Given the description of an element on the screen output the (x, y) to click on. 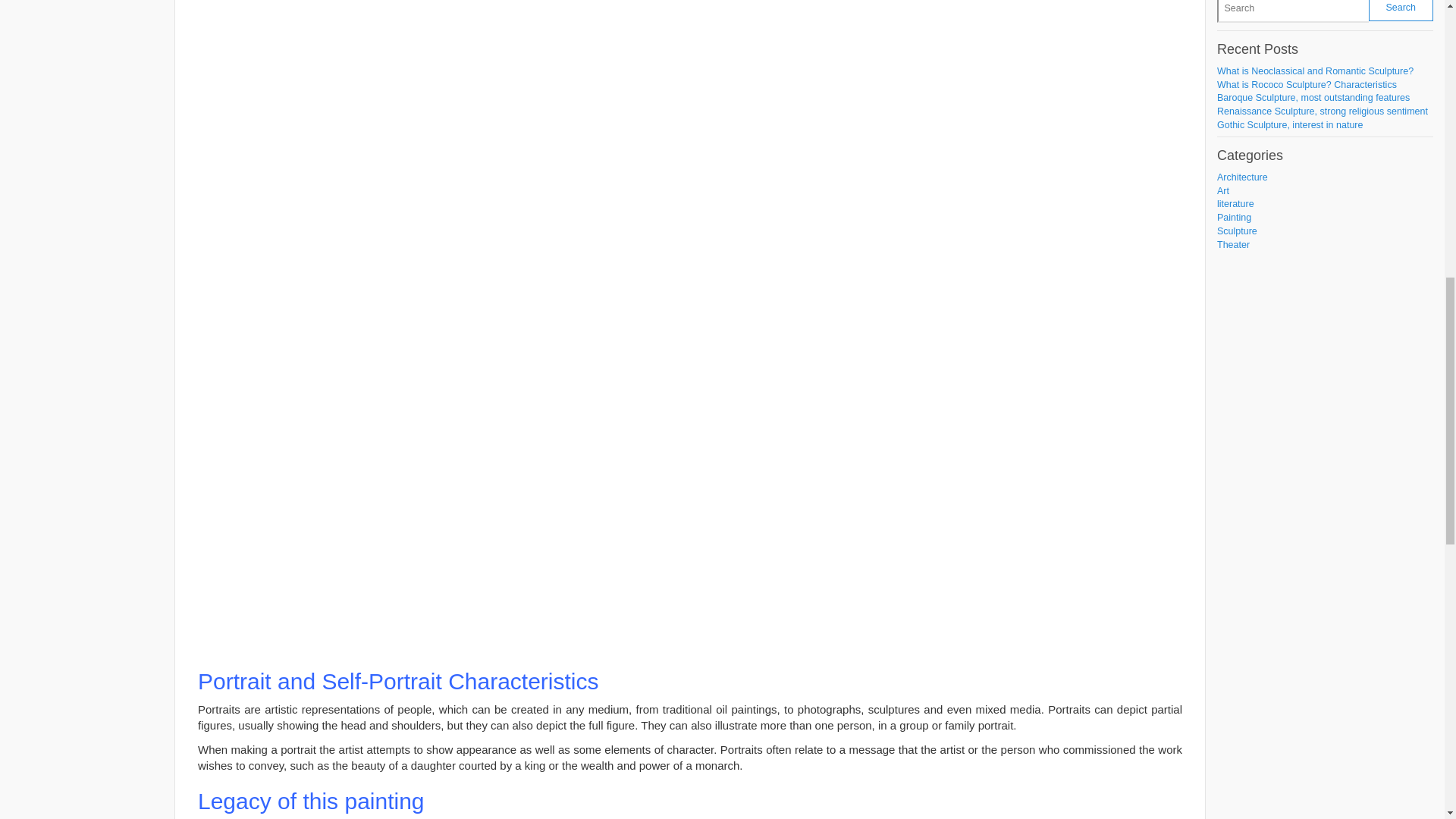
What is Rococo Sculpture? Characteristics (1306, 84)
Art (1222, 190)
Search (1292, 11)
Search (1400, 10)
Gothic Sculpture, interest in nature (1289, 124)
Search (1400, 10)
Search (1400, 10)
Architecture (1242, 176)
Renaissance Sculpture, strong religious sentiment (1322, 111)
Baroque Sculpture, most outstanding features (1313, 97)
What is Neoclassical and Romantic Sculpture? (1315, 71)
